Given the description of an element on the screen output the (x, y) to click on. 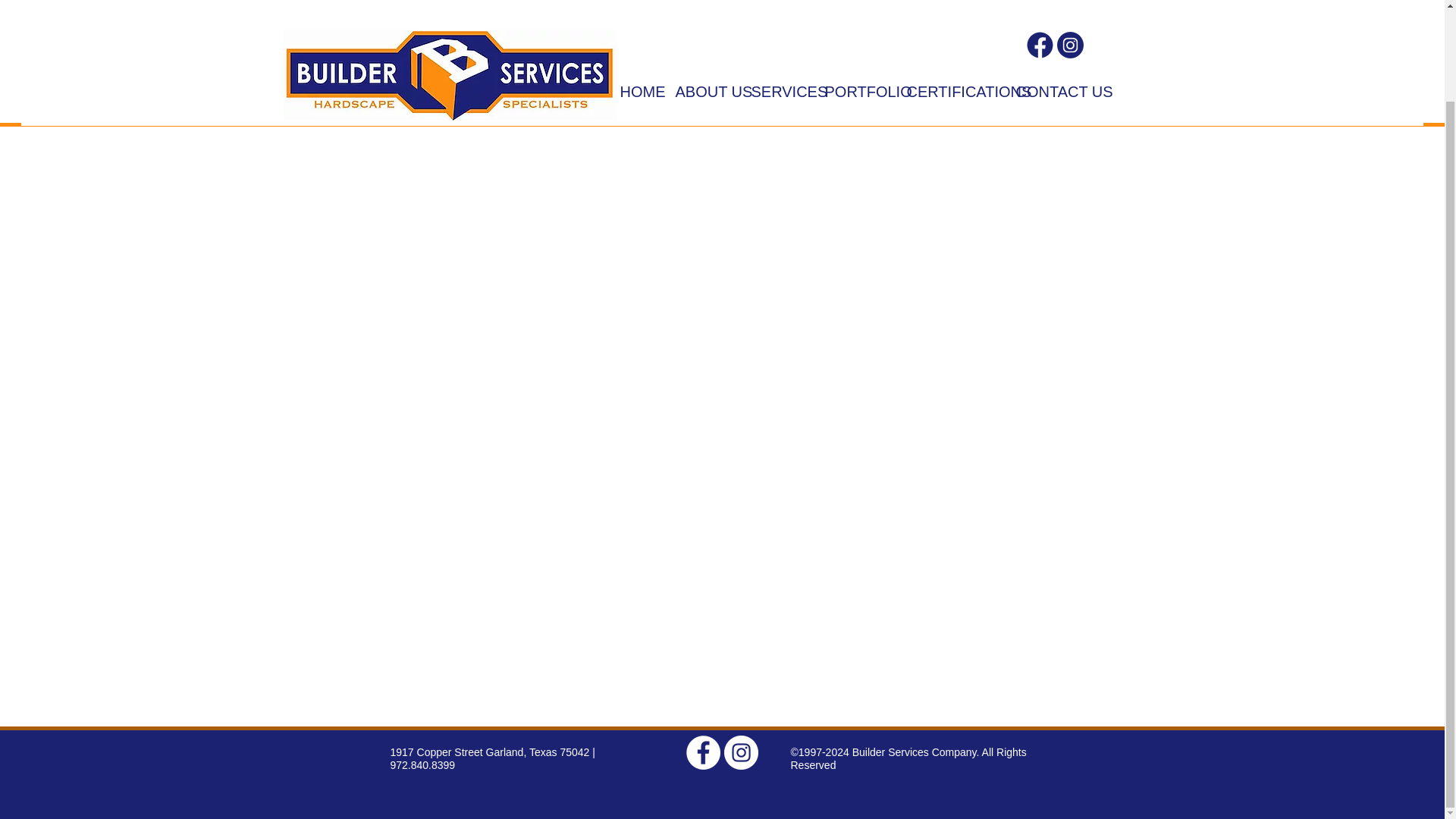
HOME (635, 2)
PORTFOLIO (853, 2)
CONTACT US (1048, 2)
SERVICES (776, 2)
ABOUT US (701, 2)
CERTIFICATIONS (949, 2)
